Given the description of an element on the screen output the (x, y) to click on. 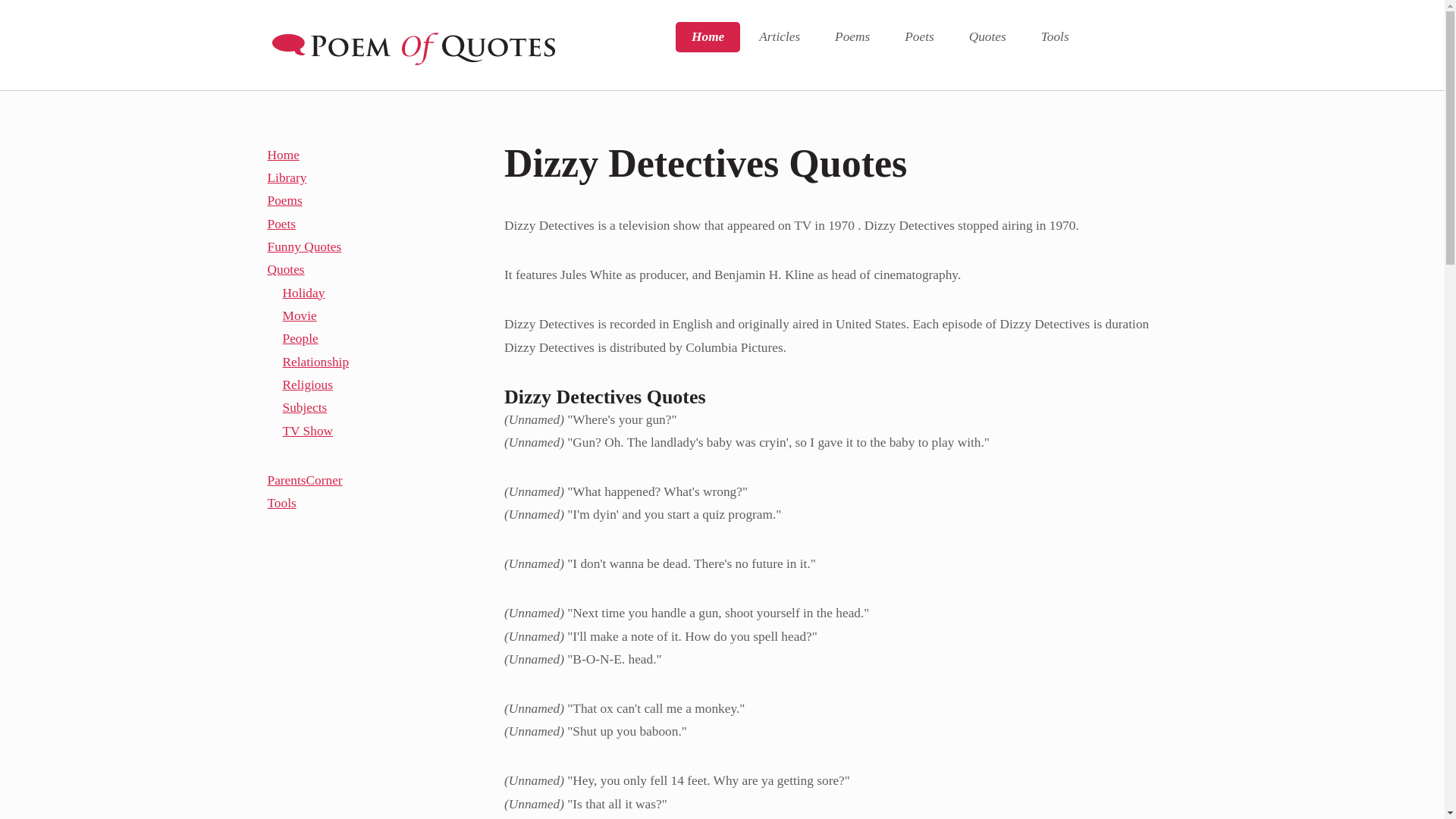
Poems (851, 37)
Articles (778, 37)
Quotes (987, 37)
Poets (918, 37)
Home (707, 37)
